Given the description of an element on the screen output the (x, y) to click on. 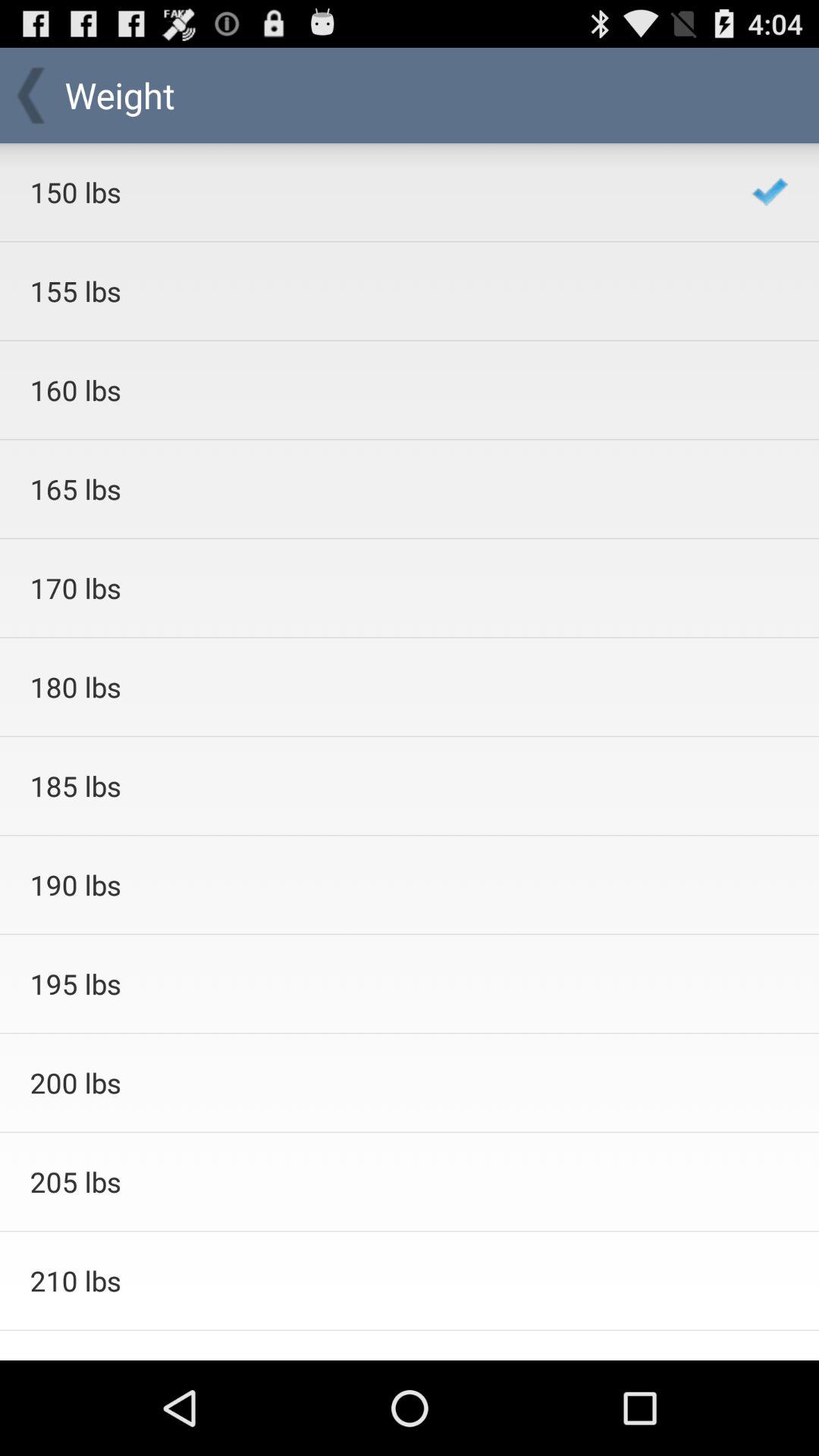
select the item below the 160 lbs app (371, 488)
